Given the description of an element on the screen output the (x, y) to click on. 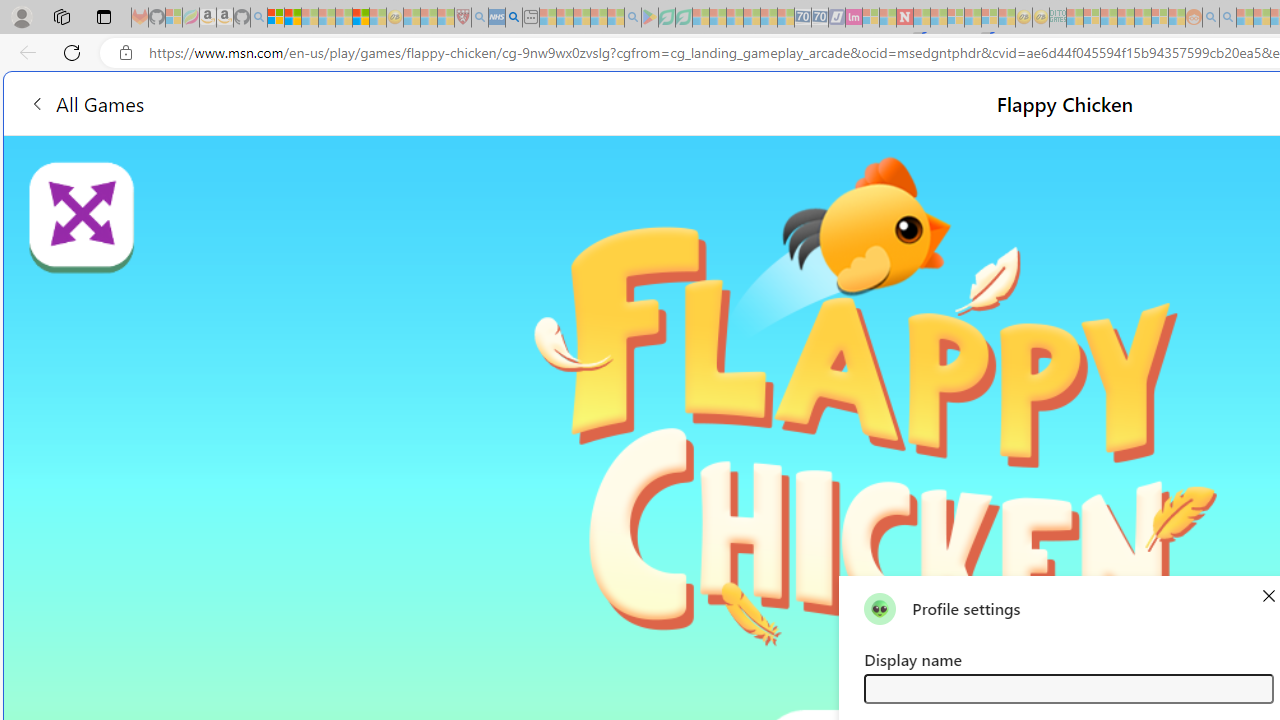
14 Common Myths Debunked By Scientific Facts - Sleeping (938, 17)
Pets - MSN - Sleeping (598, 17)
Terms of Use Agreement - Sleeping (666, 17)
""'s avatar (880, 608)
